Given the description of an element on the screen output the (x, y) to click on. 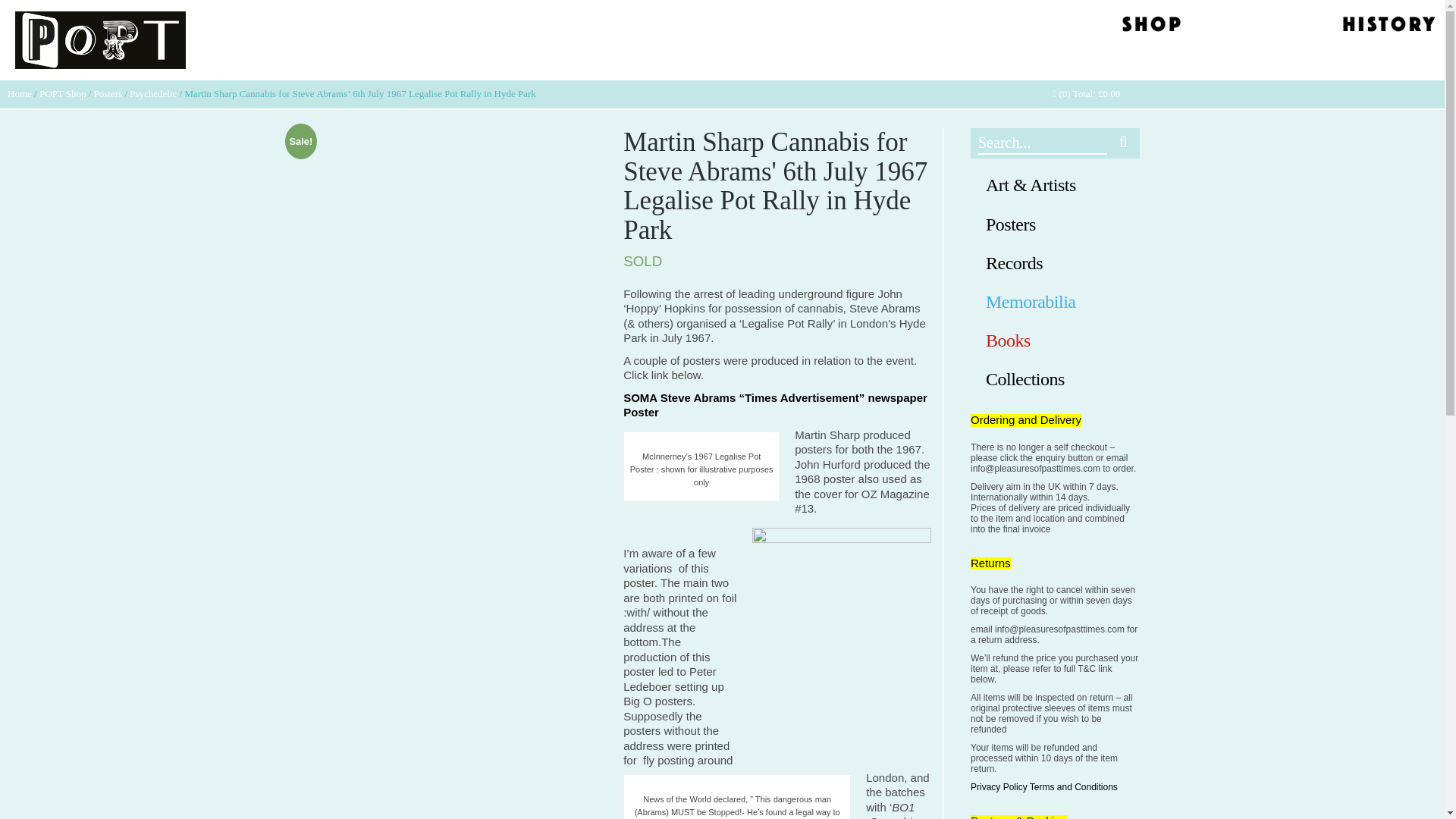
Shop (1152, 26)
Psychedelic (152, 93)
POPT Shop (62, 93)
Home (19, 93)
Info (1302, 26)
History (1387, 26)
Blog (1226, 26)
Posters (108, 93)
